Given the description of an element on the screen output the (x, y) to click on. 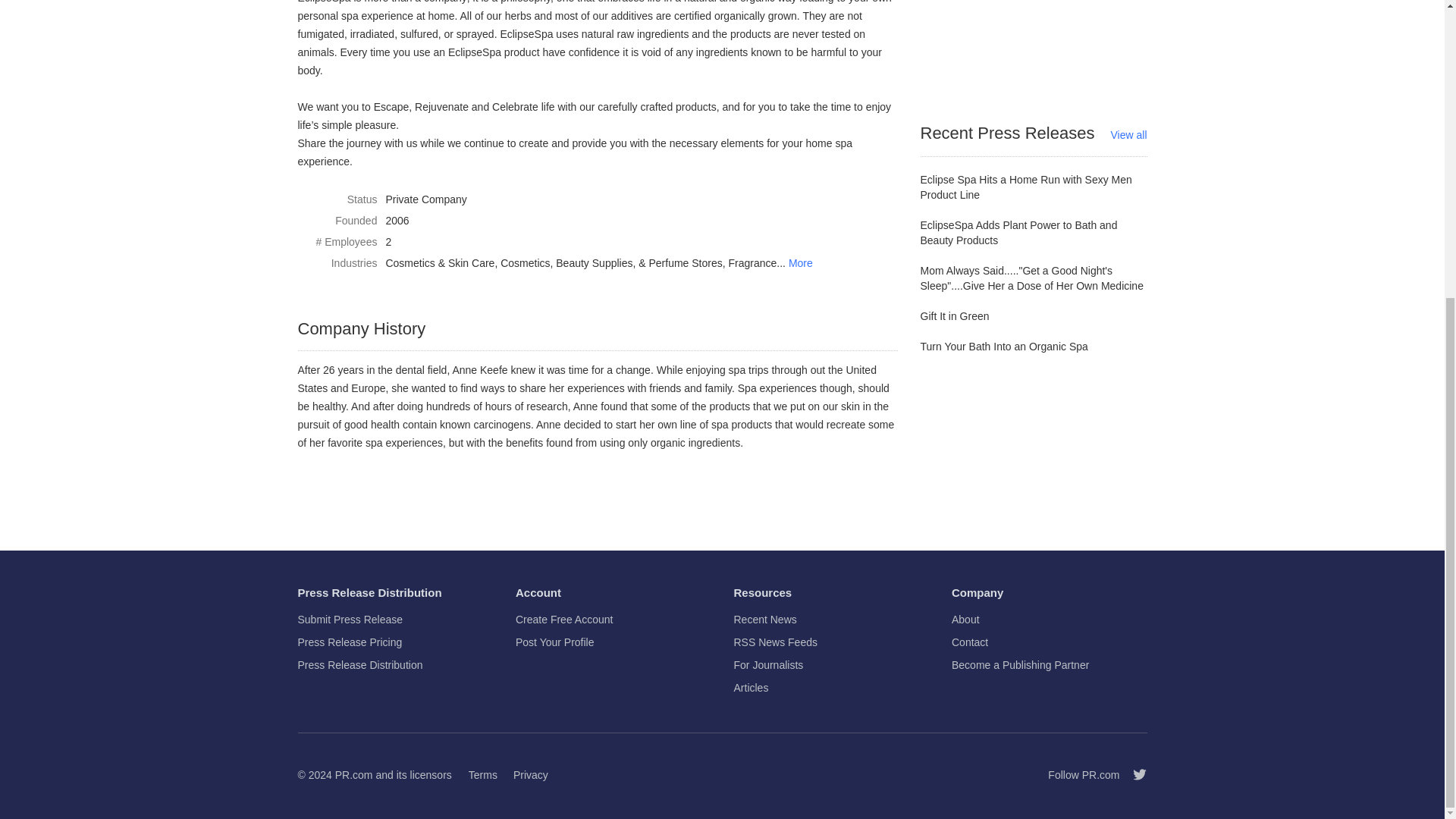
Advertisement (1034, 38)
